Given the description of an element on the screen output the (x, y) to click on. 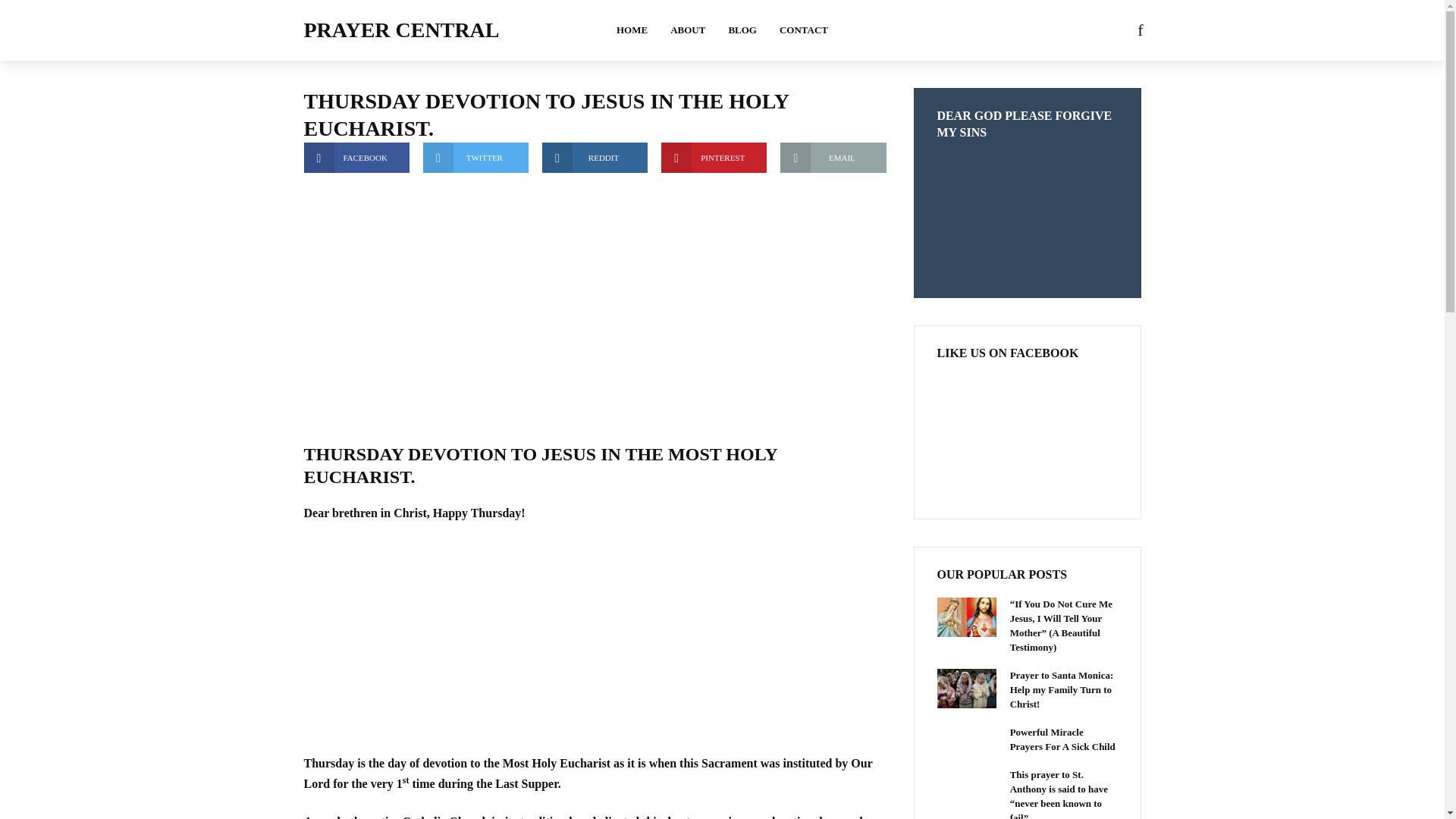
ABOUT (687, 30)
BLOG (742, 30)
Prayer to Santa Monica: Help my Family Turn to Christ! (966, 688)
PRAYER CENTRAL (400, 29)
EMAIL (832, 157)
Advertisement (593, 647)
REDDIT (594, 157)
CONTACT (804, 30)
PINTEREST (714, 157)
HOME (632, 30)
TWITTER (475, 157)
FACEBOOK (355, 157)
Advertisement (593, 296)
